Given the description of an element on the screen output the (x, y) to click on. 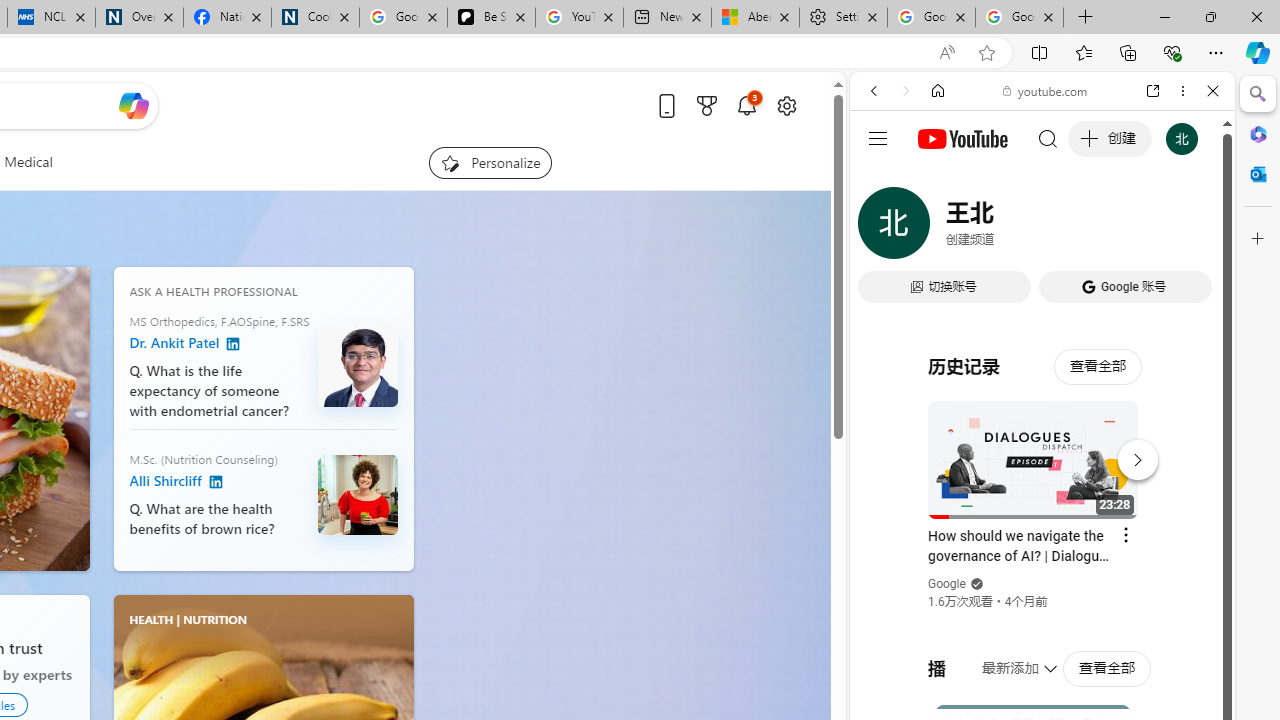
Next Slide (73, 418)
Trailer #2 [HD] (1042, 592)
Medical (28, 161)
Close Customize pane (1258, 239)
Search the web (1051, 137)
Search Filter, Search Tools (1093, 228)
Google (1042, 494)
Alli Shircliff (357, 494)
